Given the description of an element on the screen output the (x, y) to click on. 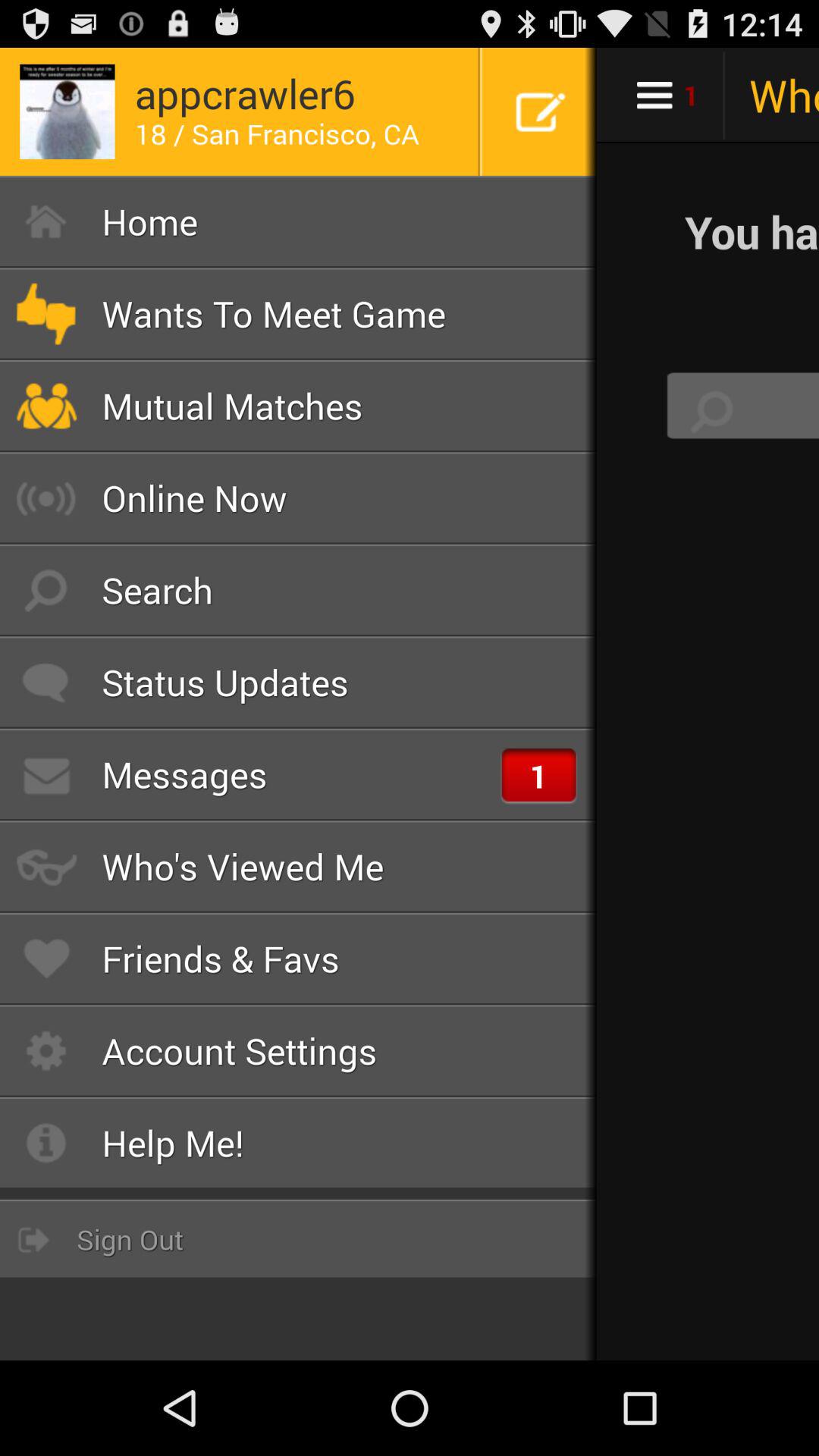
click on icon at the top right corner (539, 112)
select the image on top left corner of the page (67, 111)
